Given the description of an element on the screen output the (x, y) to click on. 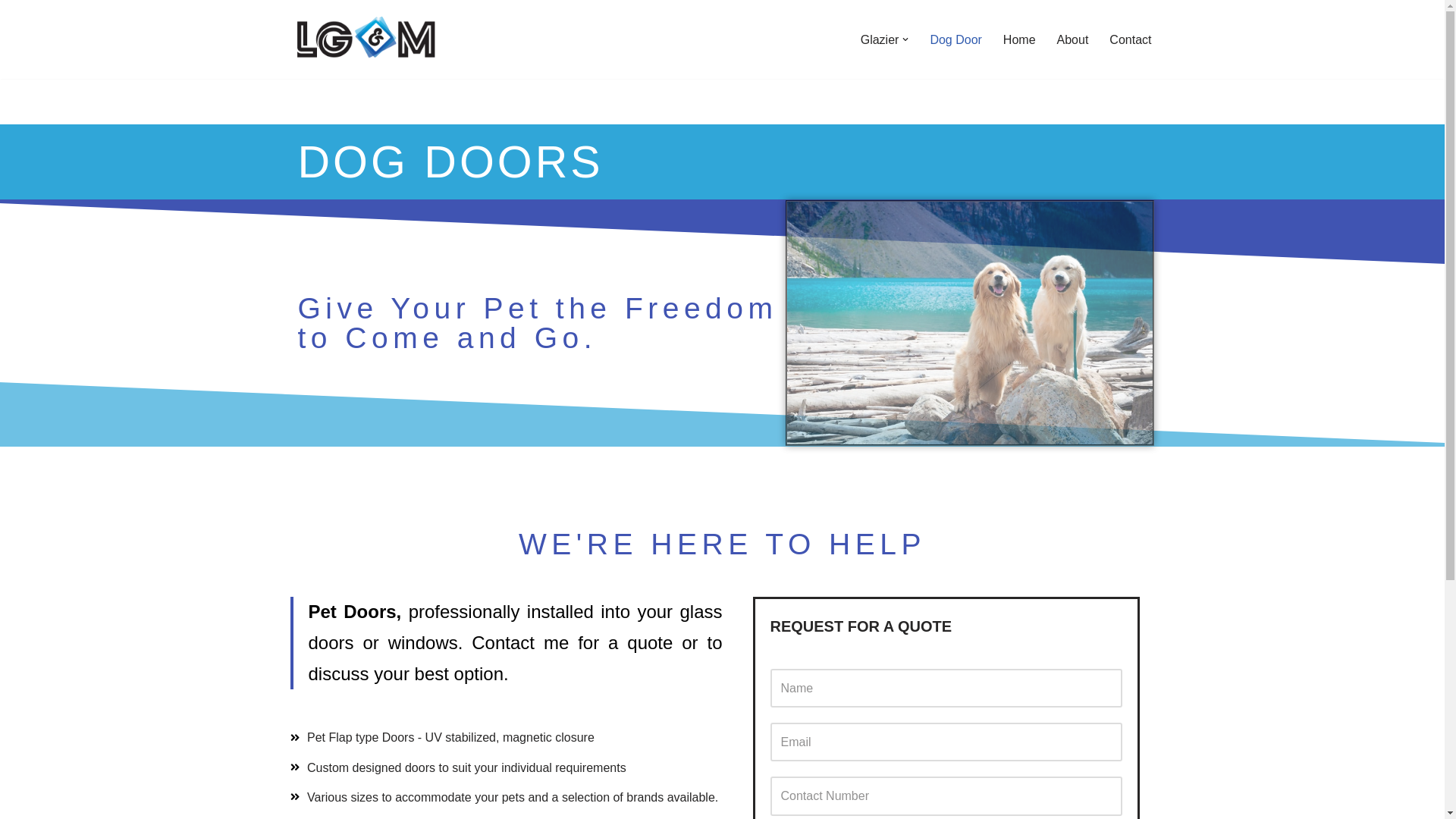
Home Element type: text (1019, 39)
About Element type: text (1072, 39)
Dog Door Element type: text (955, 39)
Glazier Element type: text (879, 39)
Skip to content Element type: text (11, 31)
Contact Element type: text (1130, 39)
